Given the description of an element on the screen output the (x, y) to click on. 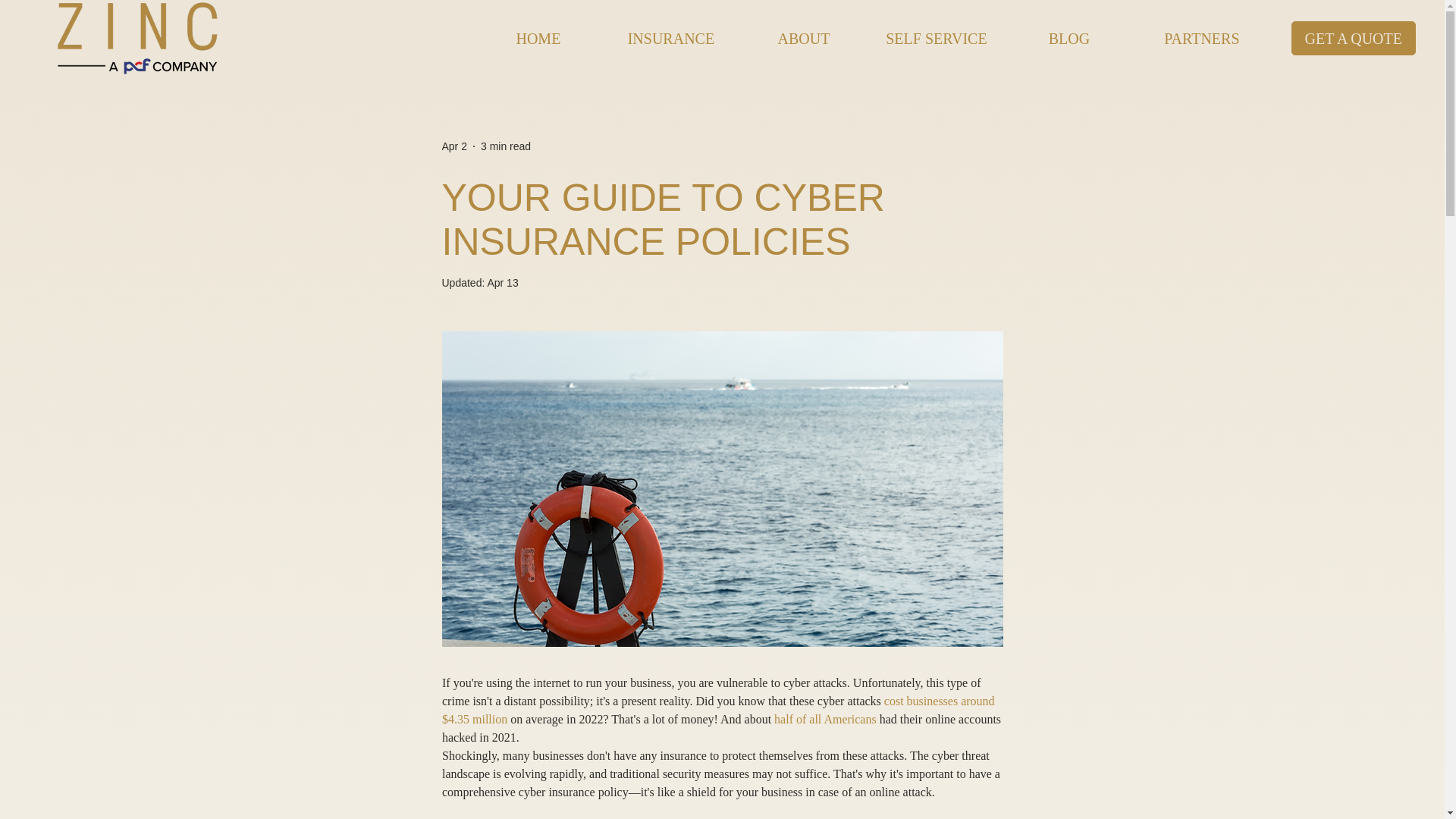
3 min read (505, 145)
HOME (537, 38)
Apr 13 (502, 282)
GET A QUOTE (1353, 38)
SELF SERVICE (936, 38)
BLOG (1069, 38)
Apr 2 (453, 145)
half of all Americans (825, 718)
PARTNERS (1201, 38)
ABOUT (802, 38)
